Given the description of an element on the screen output the (x, y) to click on. 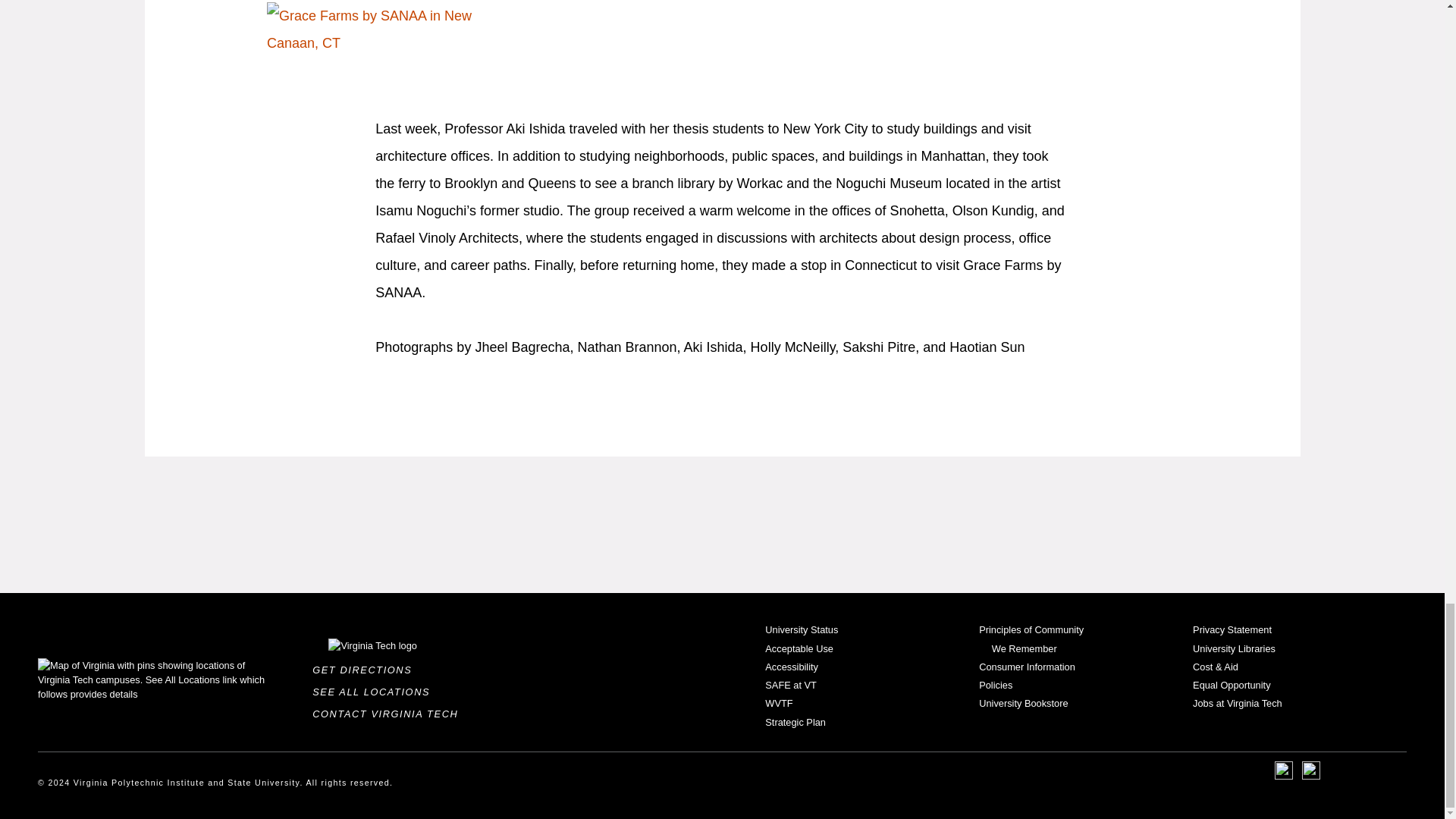
: Grace Farms by SANAA in New Canaan, CT (376, 32)
